Given the description of an element on the screen output the (x, y) to click on. 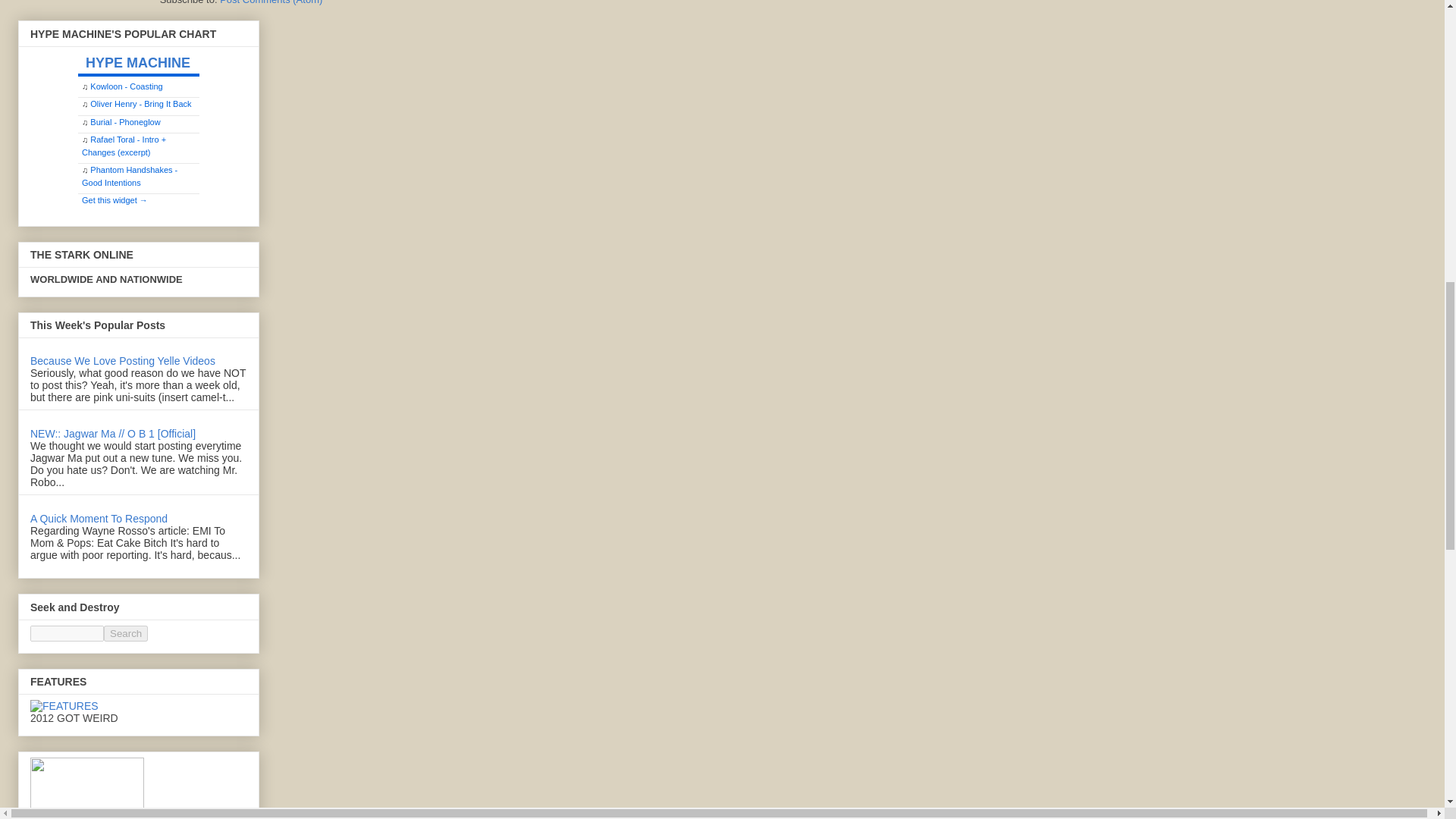
HYPE MACHINE (142, 60)
Search (125, 633)
Because We Love Posting Yelle Videos (122, 360)
Burial - Phoneglow (125, 121)
search (66, 633)
A Quick Moment To Respond (98, 518)
Search (125, 633)
Kowloon - Coasting (125, 85)
Phantom Handshakes - Good Intentions (129, 176)
Oliver Henry - Bring It Back (140, 103)
